Given the description of an element on the screen output the (x, y) to click on. 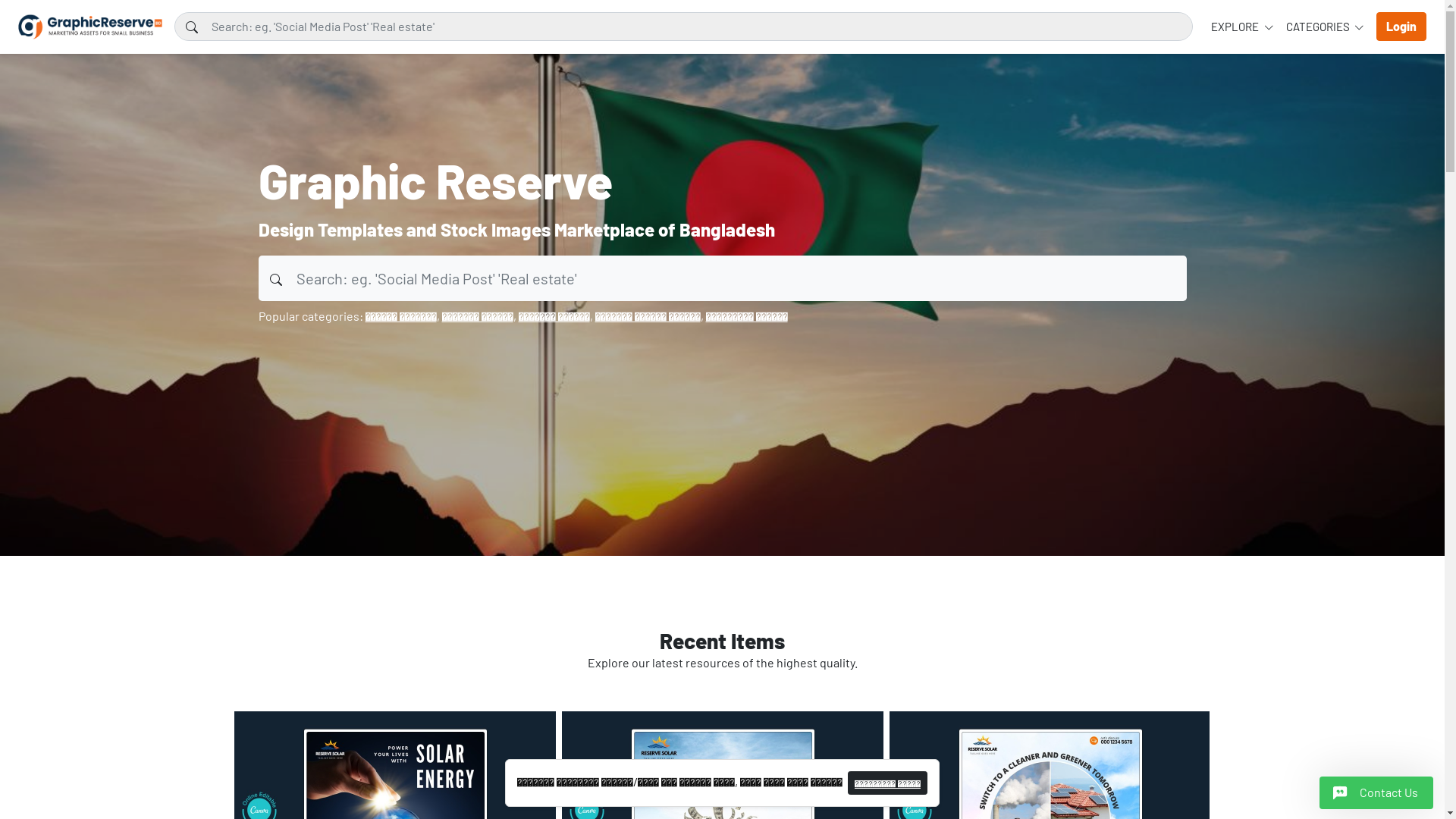
EXPLORE Element type: text (1241, 26)
Contact Us Element type: text (1376, 792)
CATEGORIES Element type: text (1325, 26)
Login Element type: text (1401, 26)
